Given the description of an element on the screen output the (x, y) to click on. 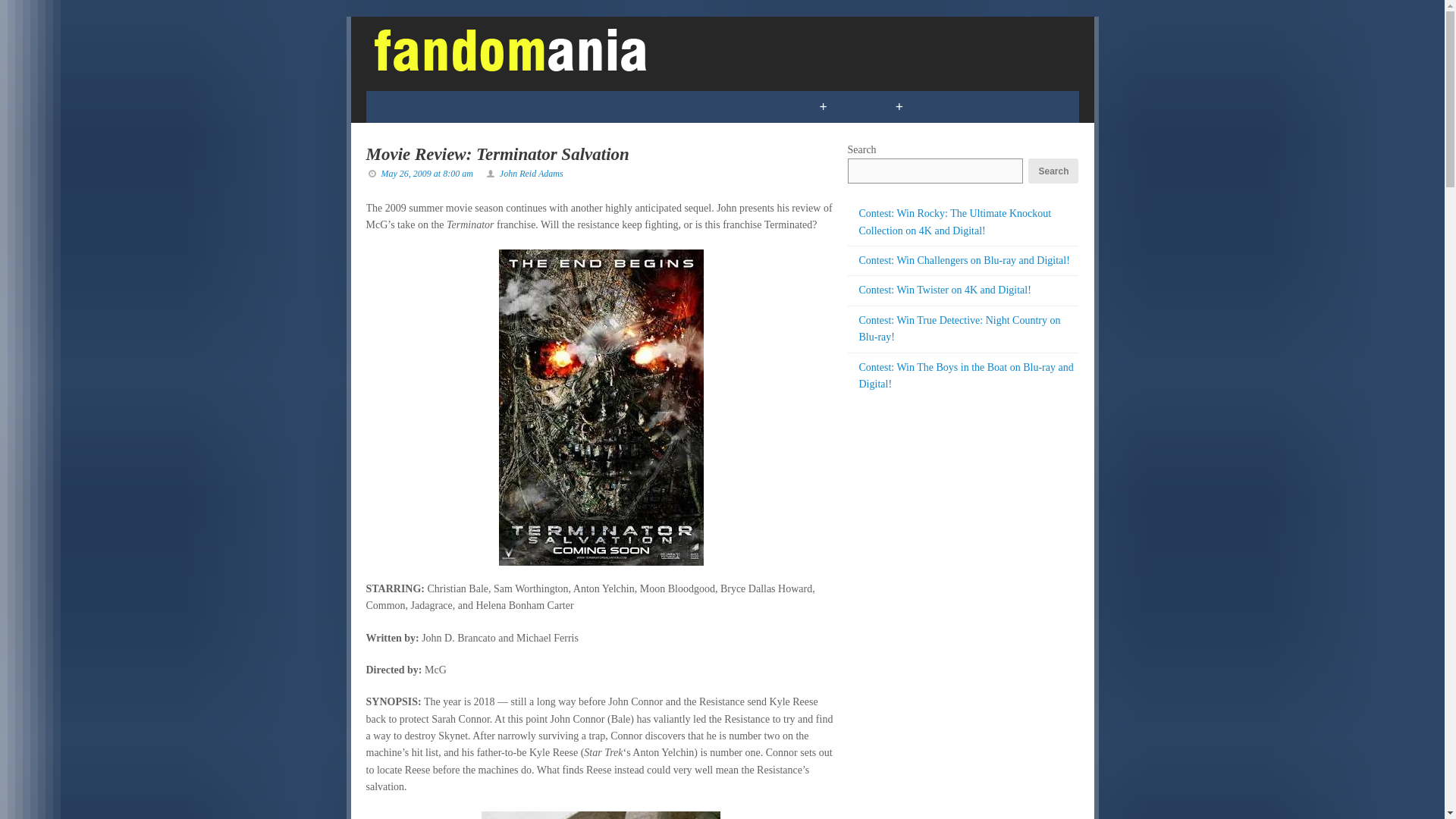
Search (1052, 170)
May 26, 2009 at 8:00 am (425, 173)
About (1015, 106)
Posts by John Reid Adams (531, 173)
Music (676, 106)
Contests (757, 106)
Comics (403, 106)
Games (478, 106)
TV (539, 106)
John Reid Adams (531, 173)
Movie Review: Terminator Salvation (496, 153)
Movies (602, 106)
